Given the description of an element on the screen output the (x, y) to click on. 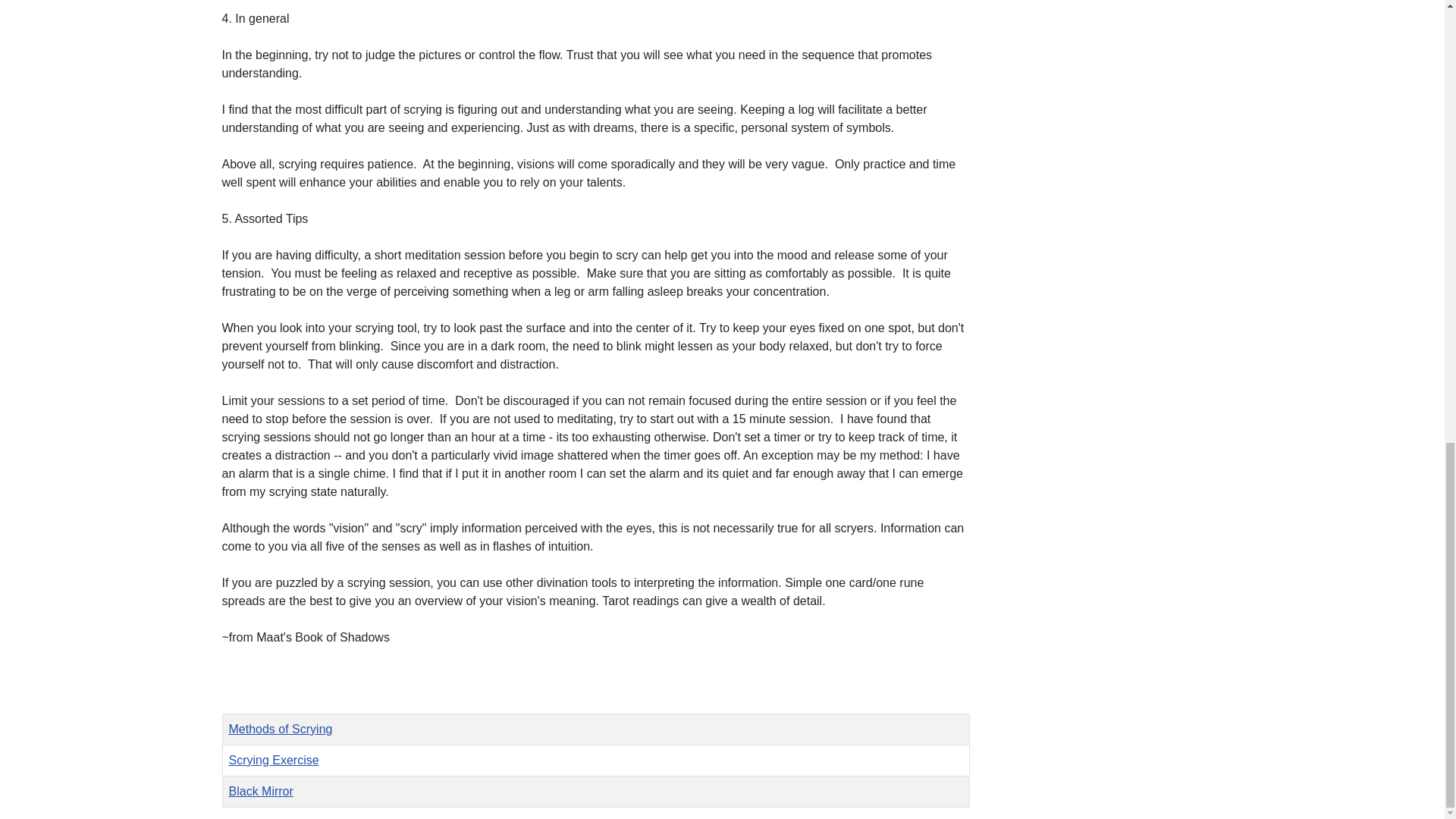
Methods of Scrying (280, 728)
Black Mirror (261, 790)
Scrying Exercise (273, 759)
